Given the description of an element on the screen output the (x, y) to click on. 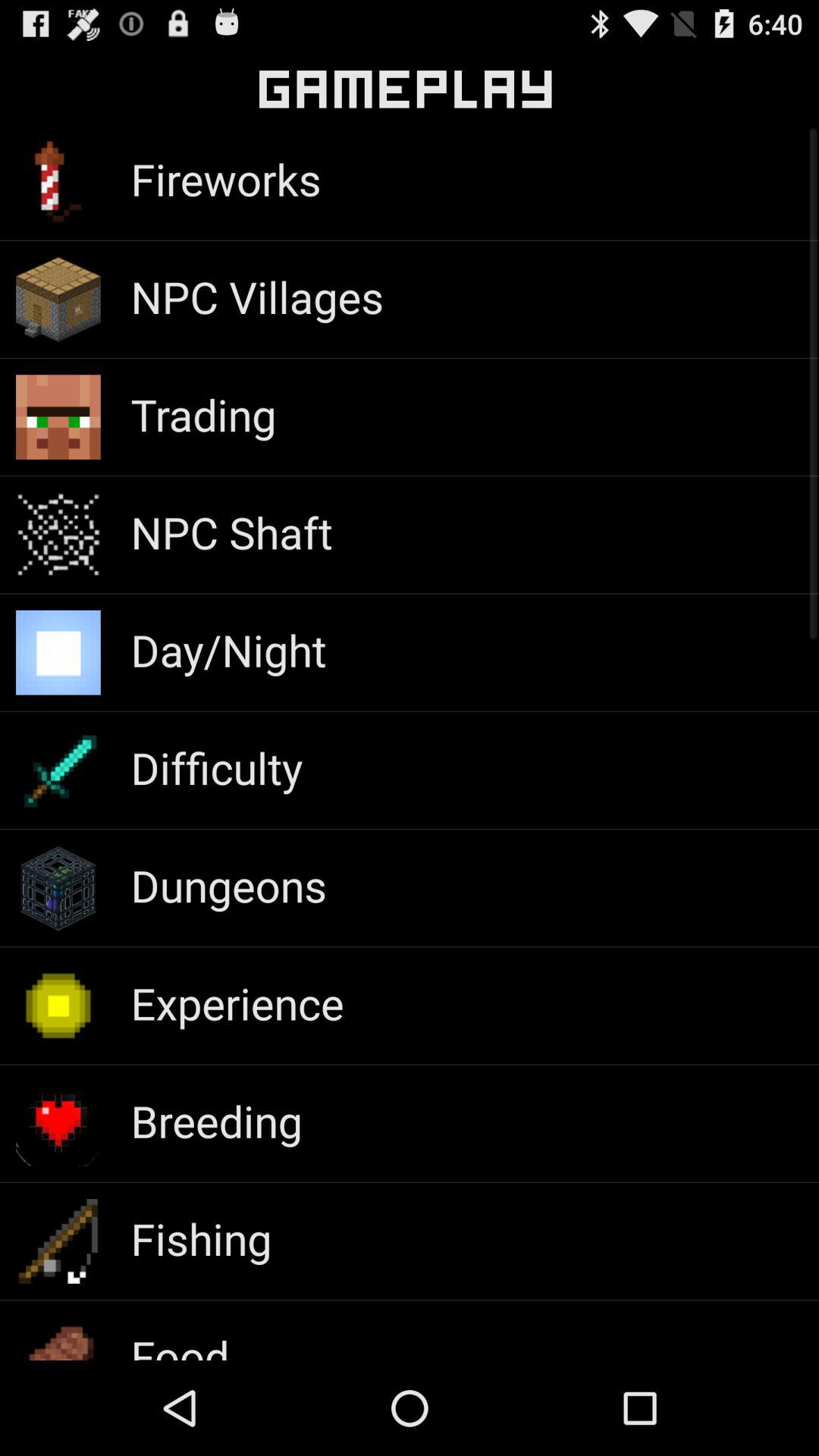
press the item below the npc shaft app (228, 649)
